Given the description of an element on the screen output the (x, y) to click on. 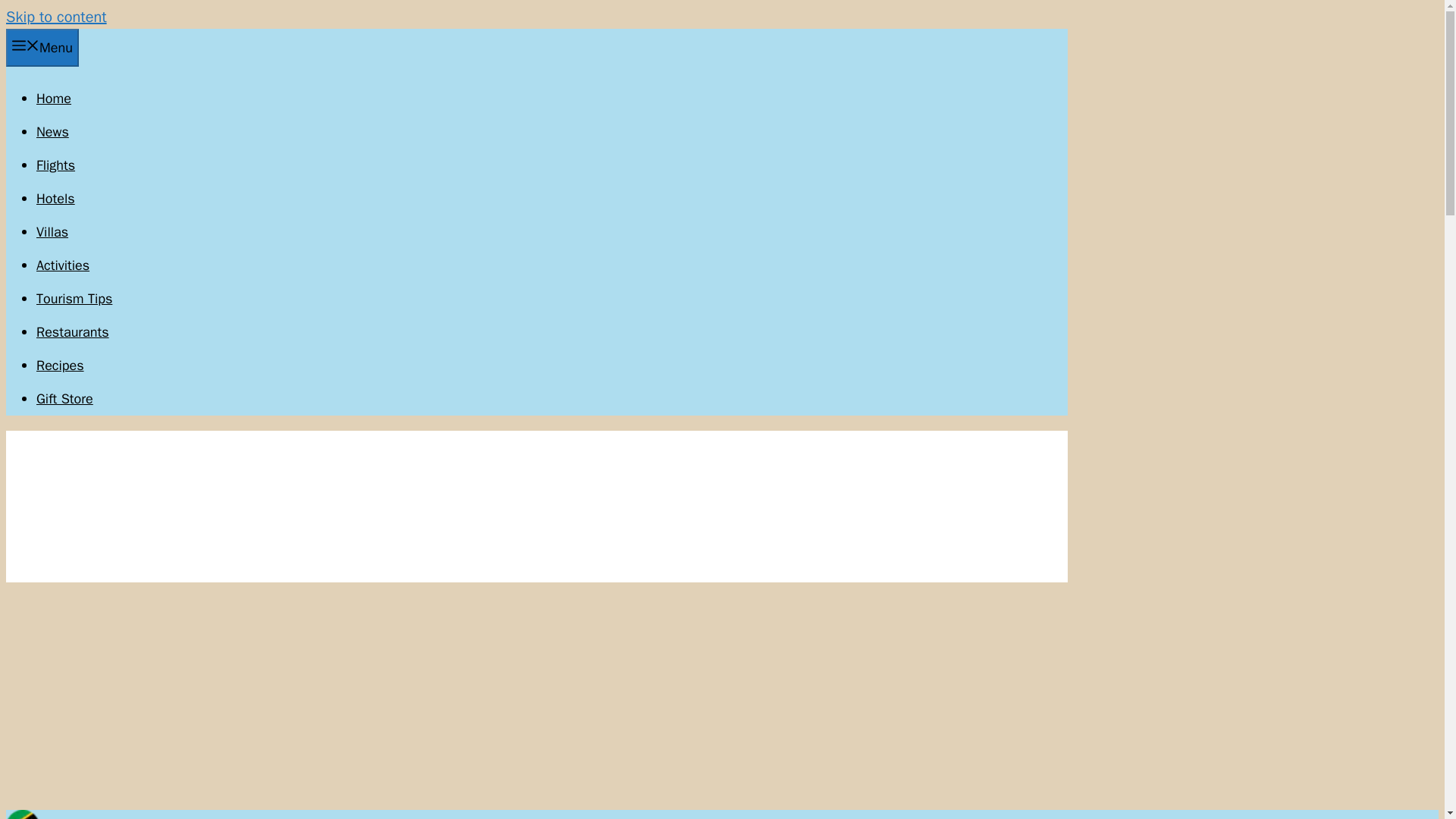
Nevis Tourism Tips and Tricks (74, 298)
Tourism Tips (74, 298)
Luxury Nevis Hotels (55, 198)
Activities (62, 265)
Nevis Villa Rentals (52, 231)
Hotels (55, 198)
Gift Store (64, 398)
Menu (41, 47)
Villas (52, 231)
Nevis and Caribbean Recipes (60, 365)
Nevis Flight Information (55, 165)
Nevis Activities and Events Calendar (62, 265)
Recipes (60, 365)
News (52, 131)
Nevis News (52, 131)
